Given the description of an element on the screen output the (x, y) to click on. 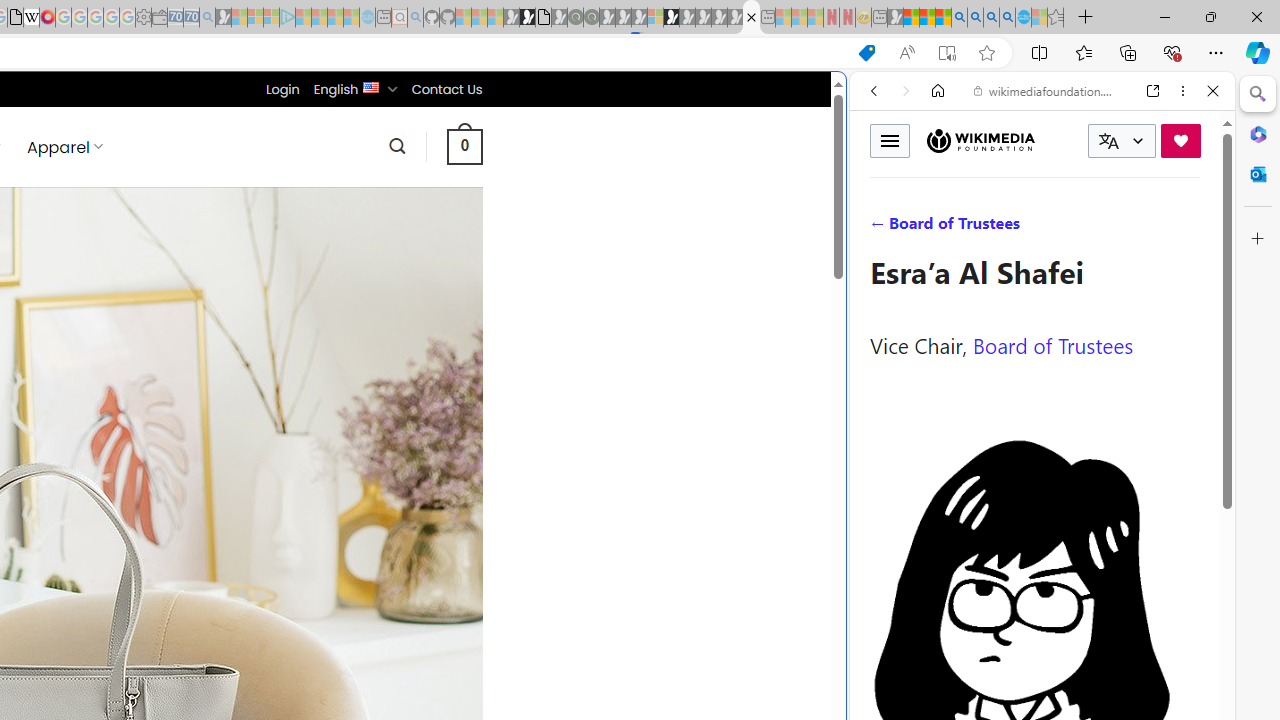
Future Focus Report 2024 - Sleeping (591, 17)
Frequently visited (418, 265)
MediaWiki (47, 17)
